Given the description of an element on the screen output the (x, y) to click on. 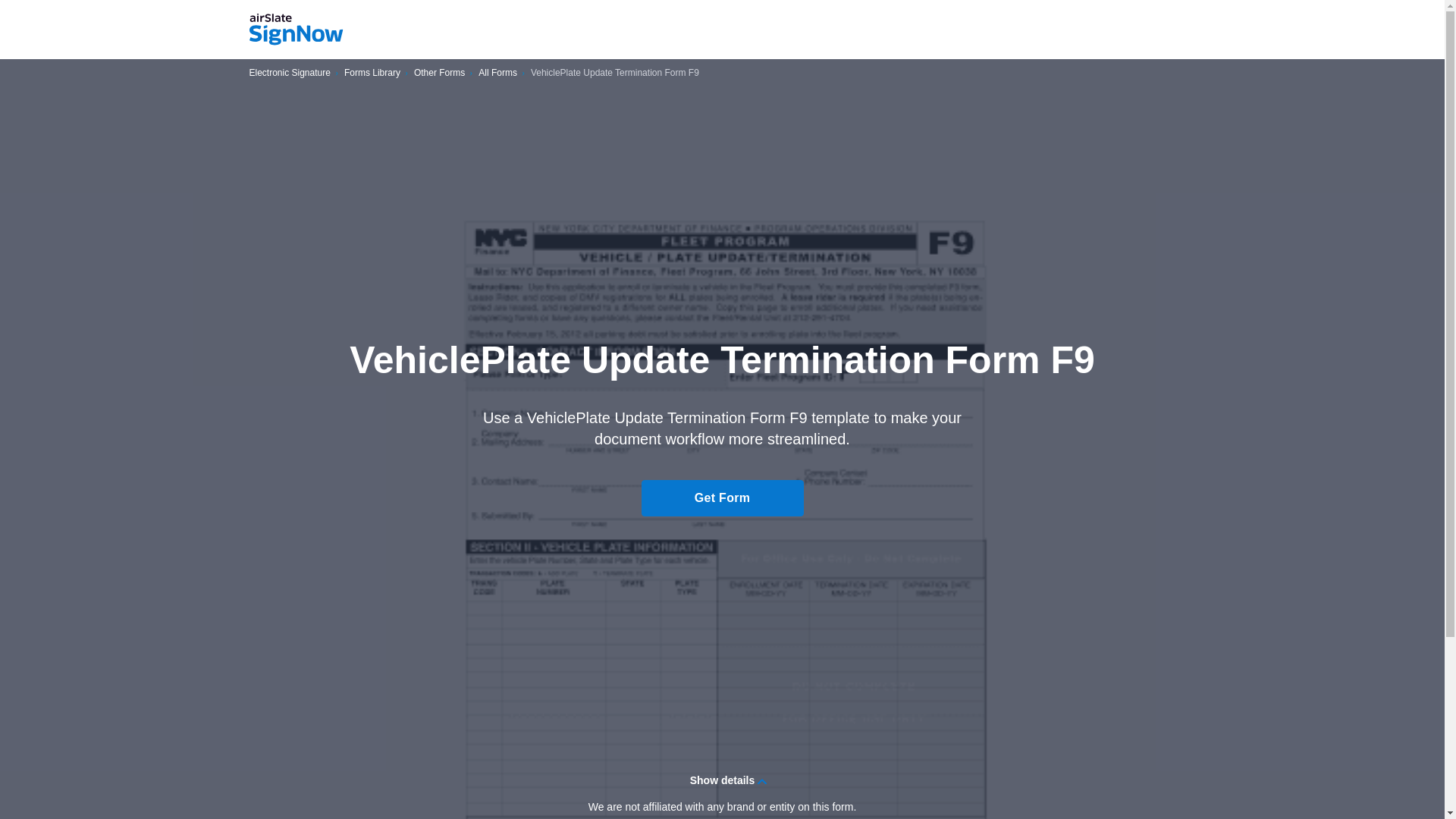
Other Forms (438, 73)
Forms Library (371, 73)
signNow (295, 29)
Show details (722, 780)
All Forms (497, 73)
Electronic Signature (289, 73)
Get Form (722, 497)
